Given the description of an element on the screen output the (x, y) to click on. 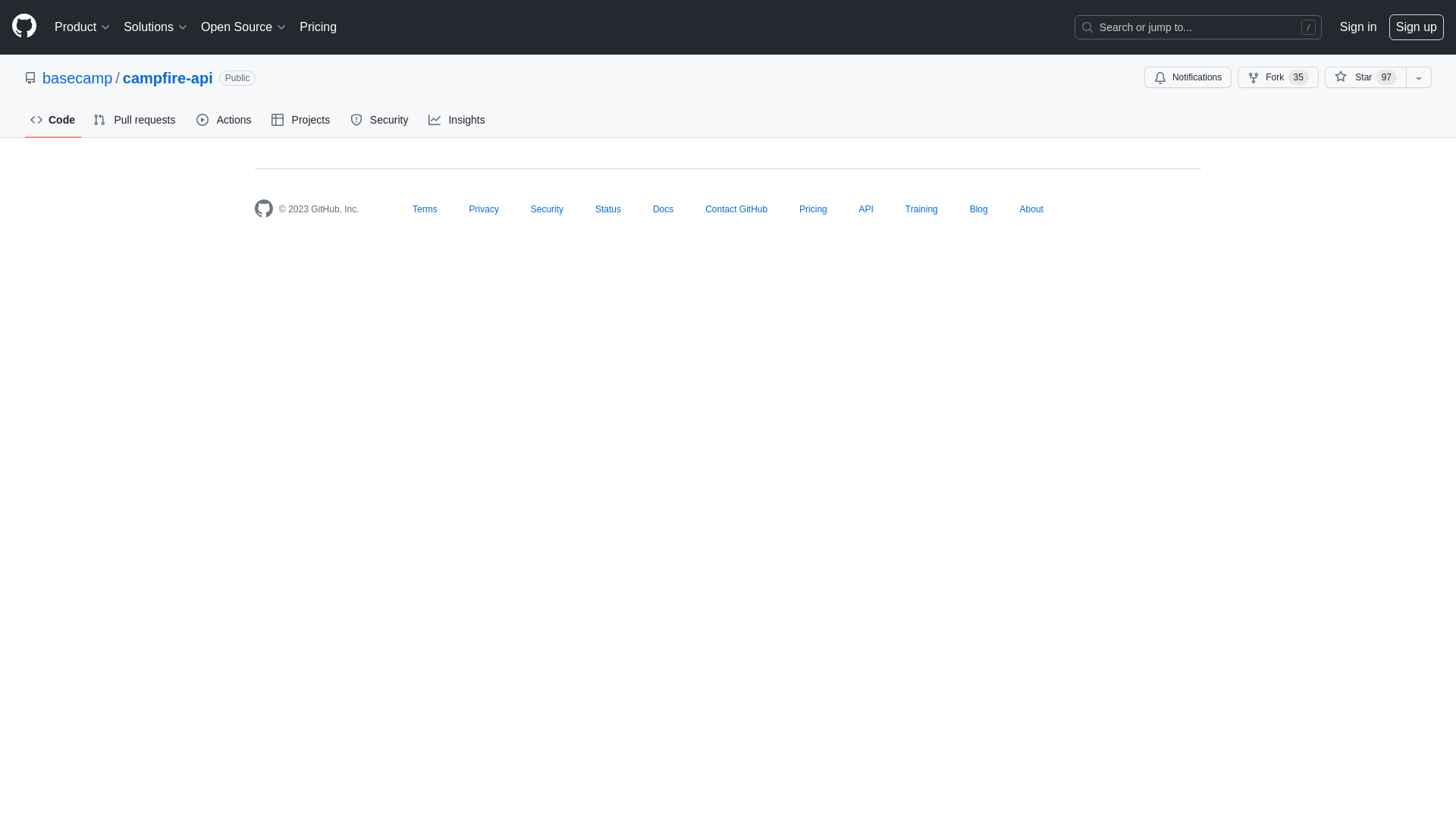
Star 97 Element type: text (1364, 76)
Training Element type: text (921, 208)
Search or jump to... Element type: text (1198, 26)
About Element type: text (1031, 208)
Sign up Element type: text (1416, 27)
Projects Element type: text (301, 119)
API Element type: text (866, 208)
GitHub Element type: hover (263, 209)
Blog Element type: text (978, 208)
Product Element type: text (82, 27)
Sign in Element type: text (1358, 27)
Actions Element type: text (224, 119)
Skip to content Element type: text (0, 0)
Open Source Element type: text (243, 27)
Code Element type: text (52, 119)
Pricing Element type: text (317, 27)
basecamp Element type: text (77, 77)
Privacy Element type: text (483, 208)
Contact GitHub Element type: text (736, 208)
Security Element type: text (546, 208)
Pricing Element type: text (813, 208)
Insights Element type: text (457, 119)
Pull requests Element type: text (135, 119)
Solutions Element type: text (155, 27)
Docs Element type: text (662, 208)
Status Element type: text (608, 208)
campfire-api Element type: text (167, 77)
Notifications Element type: text (1187, 76)
Terms Element type: text (424, 208)
Security Element type: text (380, 119)
Fork 35 Element type: text (1277, 76)
